Given the description of an element on the screen output the (x, y) to click on. 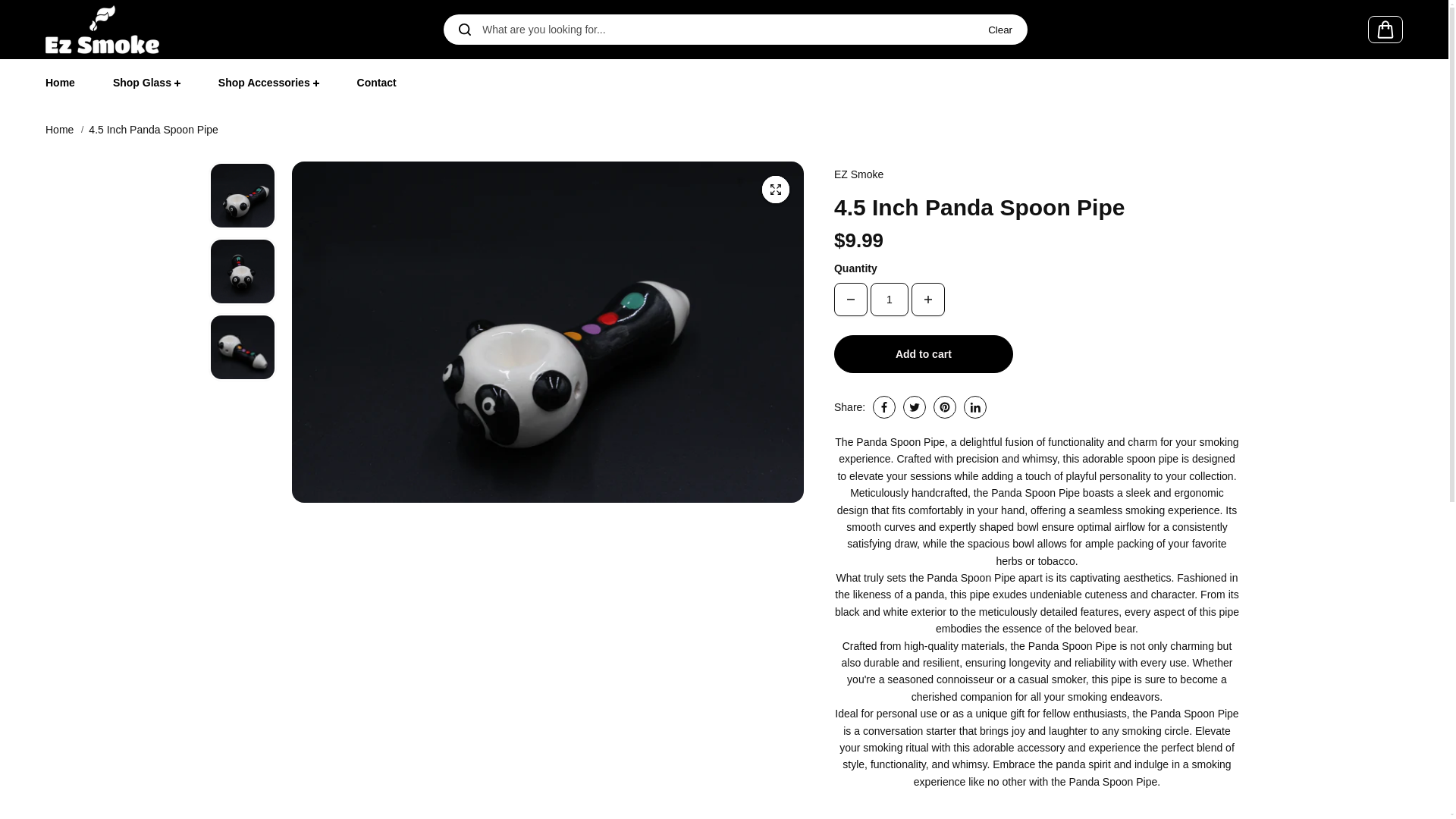
Skip to content (48, 15)
Clear (1000, 30)
1 (889, 299)
Shop Glass (143, 82)
